Given the description of an element on the screen output the (x, y) to click on. 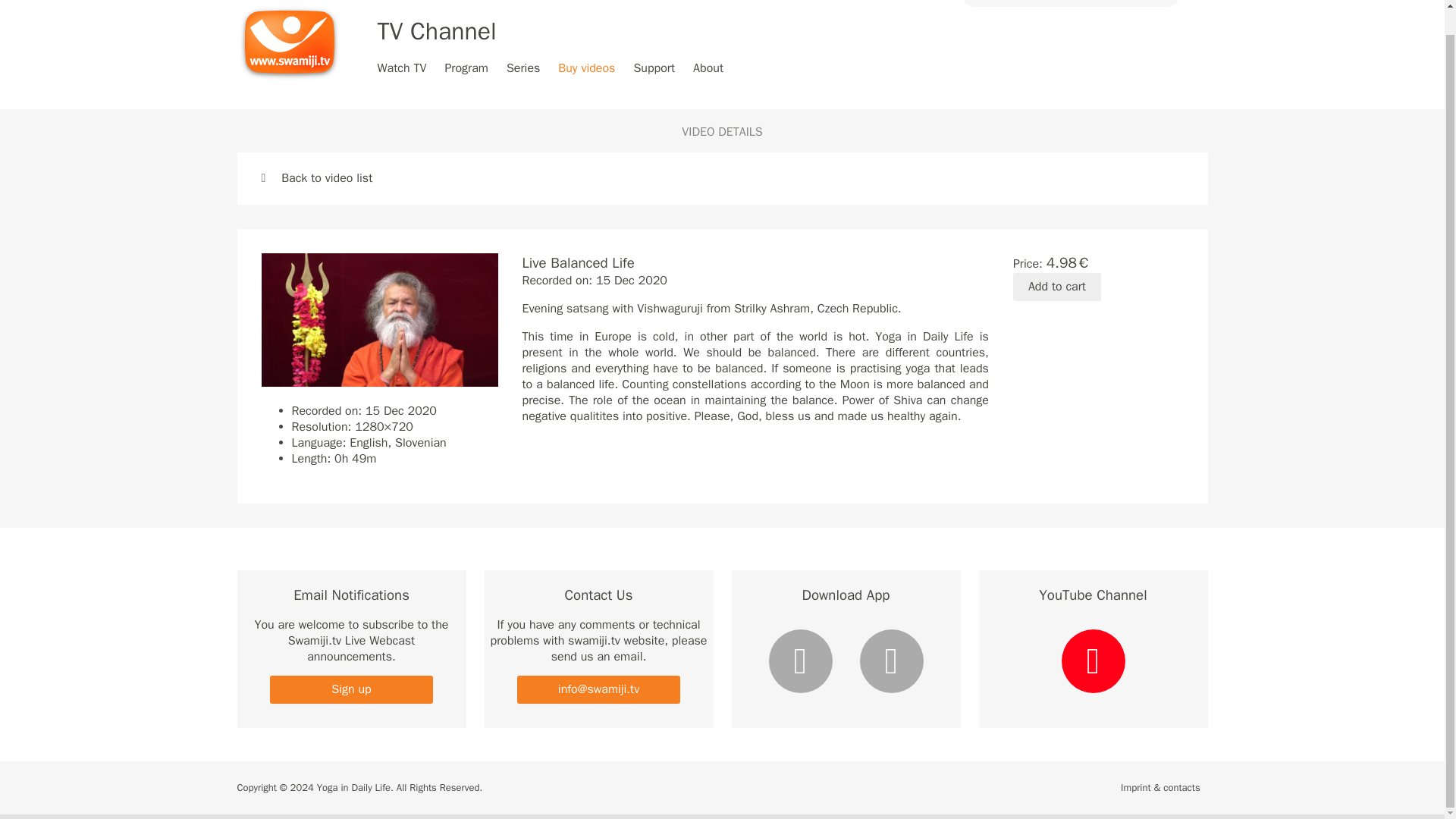
About (708, 68)
Add to cart (1056, 286)
Watch TV (401, 68)
Support (654, 68)
Buy videos (585, 68)
Program (465, 68)
Back to video list (316, 177)
Series (523, 68)
Sign up (350, 689)
Live Balanced Life (378, 319)
